Given the description of an element on the screen output the (x, y) to click on. 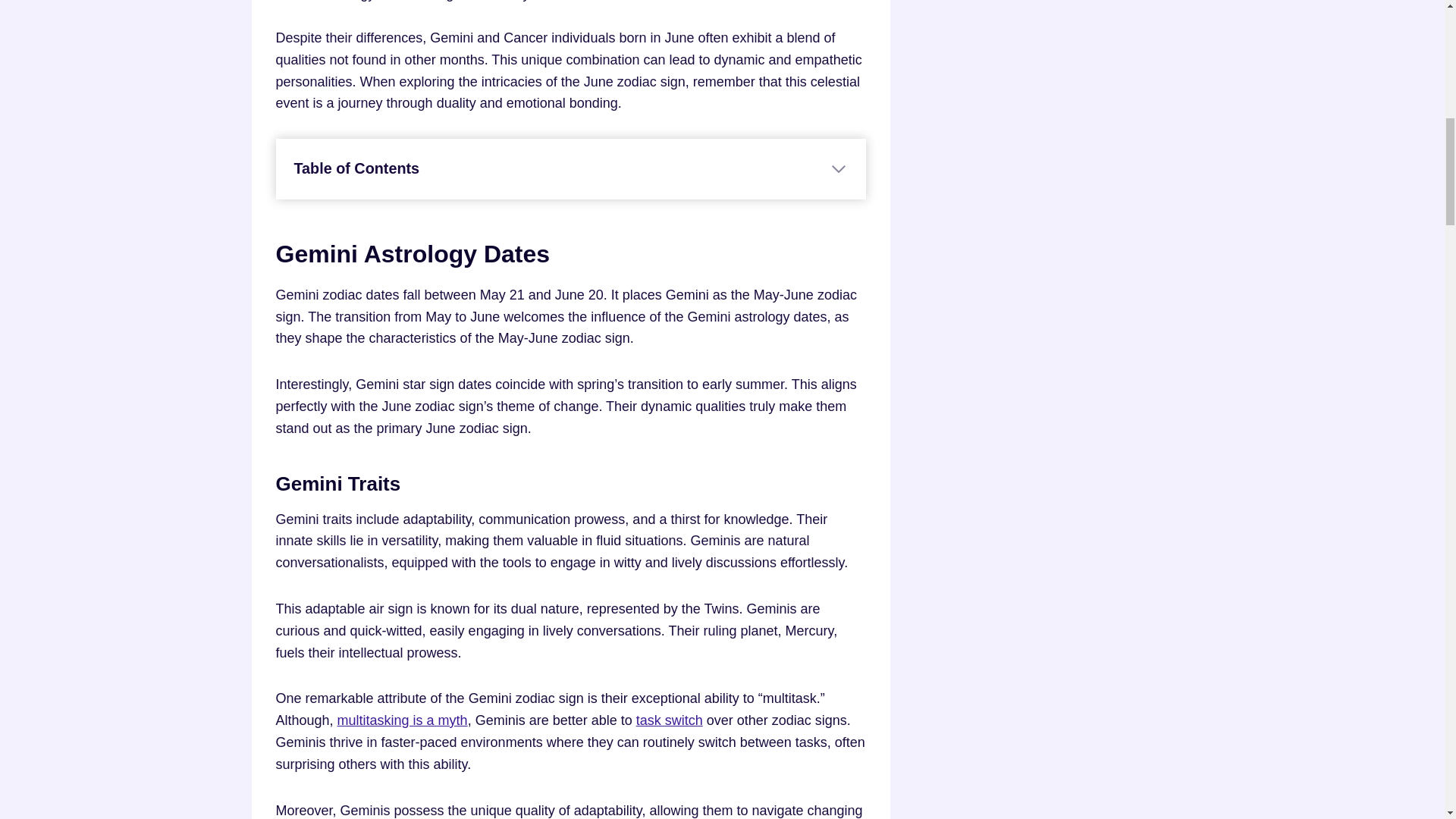
multitasking is a myth (402, 720)
task switch (669, 720)
